Given the description of an element on the screen output the (x, y) to click on. 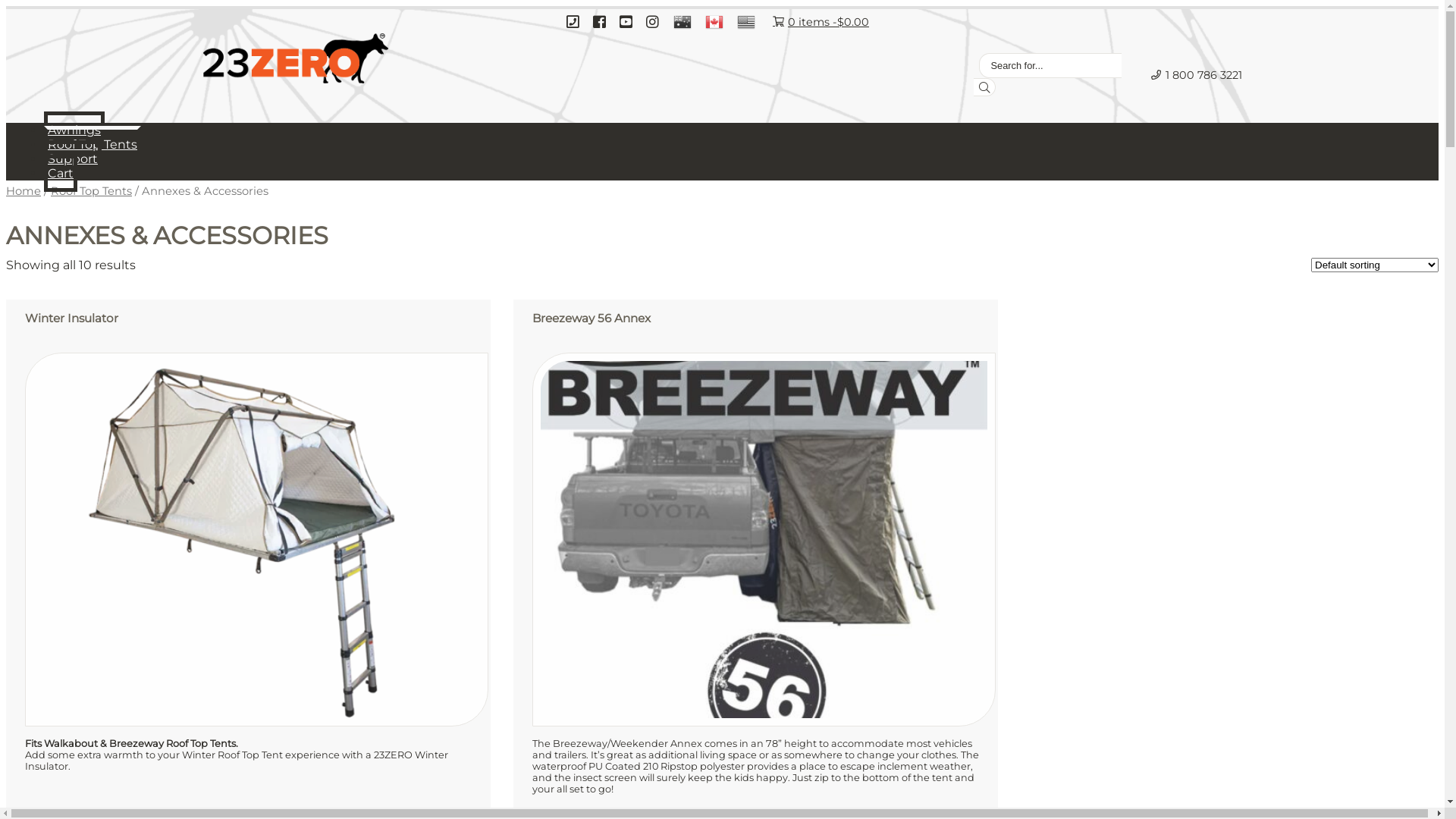
Awnings Element type: text (73, 129)
Roof Top Tents Element type: text (92, 143)
Roof Top Tents Element type: text (90, 190)
0 items -
$0.00 Element type: text (820, 21)
1 800 786 3221 Element type: text (1195, 74)
Cart Element type: text (60, 172)
Home Element type: text (23, 190)
Support Element type: text (72, 158)
